Given the description of an element on the screen output the (x, y) to click on. 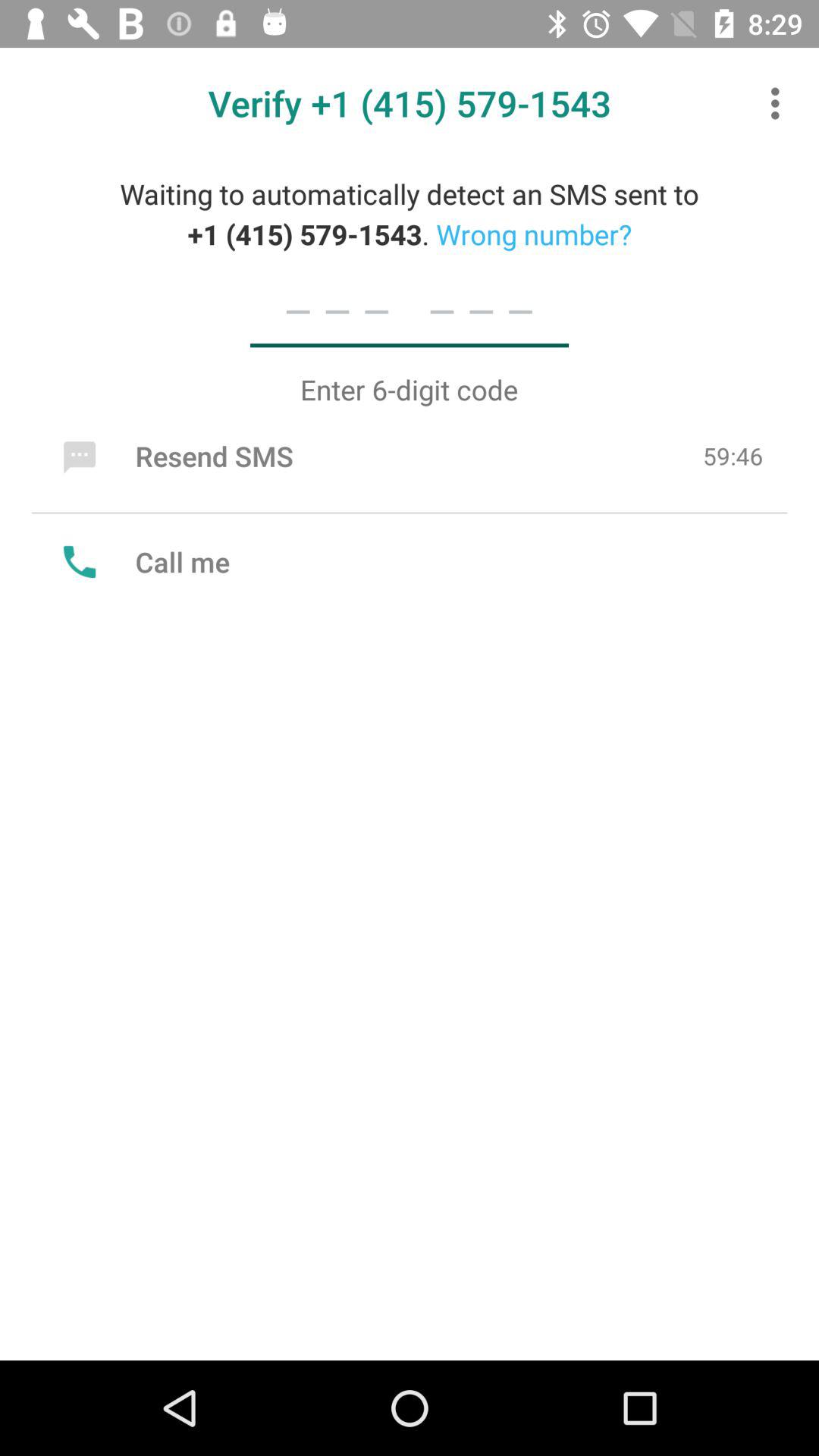
click item above the waiting to automatically (779, 103)
